Given the description of an element on the screen output the (x, y) to click on. 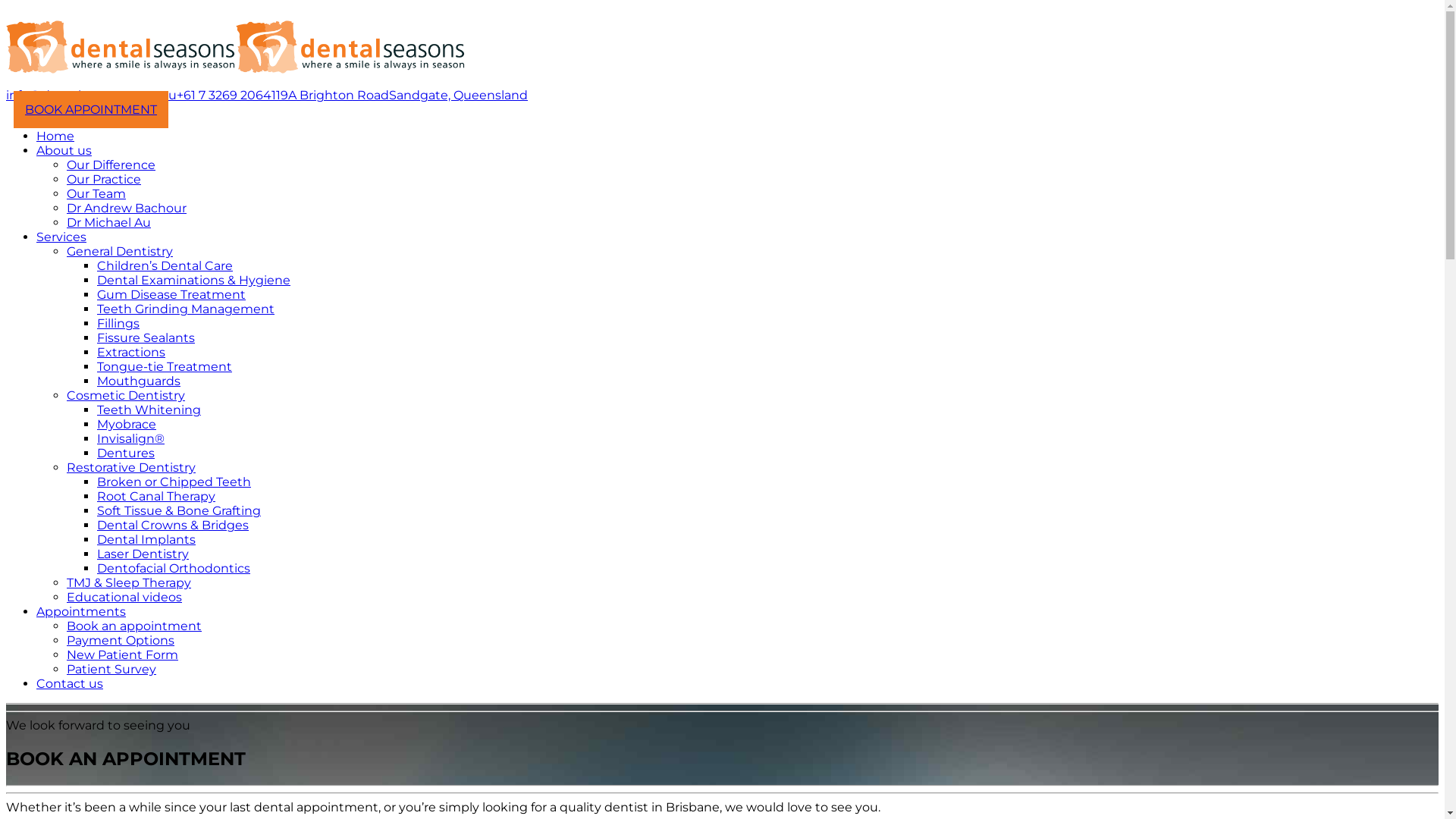
Educational videos Element type: text (124, 596)
Broken or Chipped Teeth Element type: text (174, 481)
Soft Tissue & Bone Grafting Element type: text (178, 510)
TMJ & Sleep Therapy Element type: text (128, 582)
Dr Michael Au Element type: text (108, 222)
Teeth Grinding Management Element type: text (185, 308)
Dentofacial Orthodontics Element type: text (173, 568)
Fillings Element type: text (118, 323)
Dentures Element type: text (125, 452)
Services Element type: text (61, 236)
info@dentalseasons.com.au Element type: text (91, 94)
+61 7 3269 2064 Element type: text (223, 94)
Our Difference Element type: text (110, 164)
Root Canal Therapy Element type: text (156, 496)
Dental Implants Element type: text (146, 539)
119A Brighton RoadSandgate, Queensland Element type: text (399, 94)
Cosmetic Dentistry Element type: text (125, 395)
General Dentistry Element type: text (119, 251)
Tongue-tie Treatment Element type: text (164, 366)
New Patient Form Element type: text (122, 654)
Book an appointment Element type: text (133, 625)
Our Team Element type: text (95, 193)
Payment Options Element type: text (120, 640)
About us Element type: text (63, 150)
Gum Disease Treatment Element type: text (171, 294)
Dental Crowns & Bridges Element type: text (172, 524)
BOOK APPOINTMENT Element type: text (90, 109)
Mouthguards Element type: text (138, 380)
Fissure Sealants Element type: text (145, 337)
Contact us Element type: text (69, 683)
Myobrace Element type: text (126, 424)
Our Practice Element type: text (103, 179)
Laser Dentistry Element type: text (142, 553)
Home Element type: text (55, 135)
Appointments Element type: text (80, 611)
Extractions Element type: text (131, 352)
Dr Andrew Bachour Element type: text (126, 207)
Restorative Dentistry Element type: text (130, 467)
Patient Survey Element type: text (111, 669)
Teeth Whitening Element type: text (148, 409)
Dental Examinations & Hygiene Element type: text (193, 280)
